Given the description of an element on the screen output the (x, y) to click on. 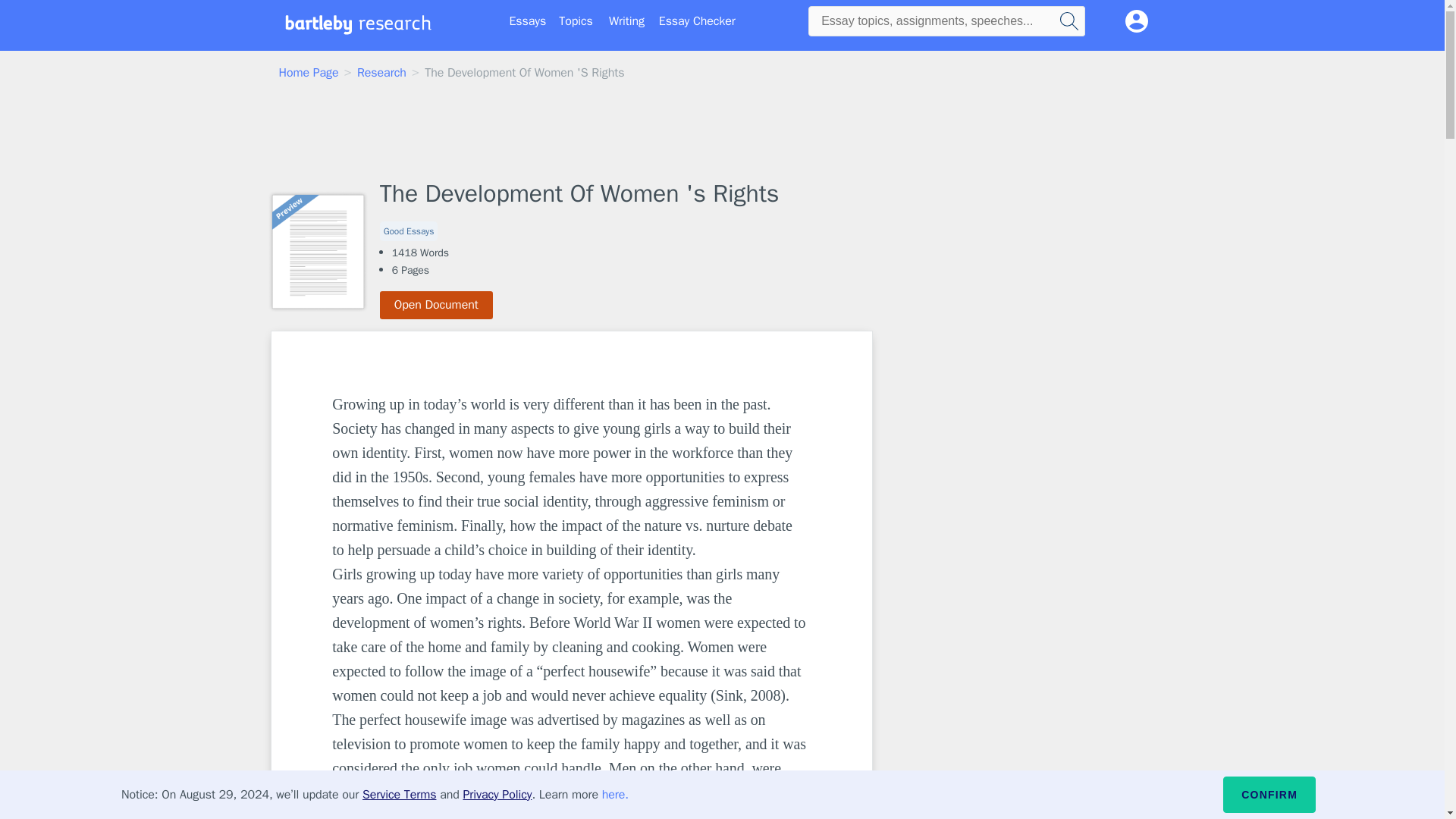
Essay Checker (697, 20)
Topics (575, 20)
Writing (626, 20)
Essays (528, 20)
Home Page (309, 72)
Open Document (436, 305)
Research (381, 72)
